Given the description of an element on the screen output the (x, y) to click on. 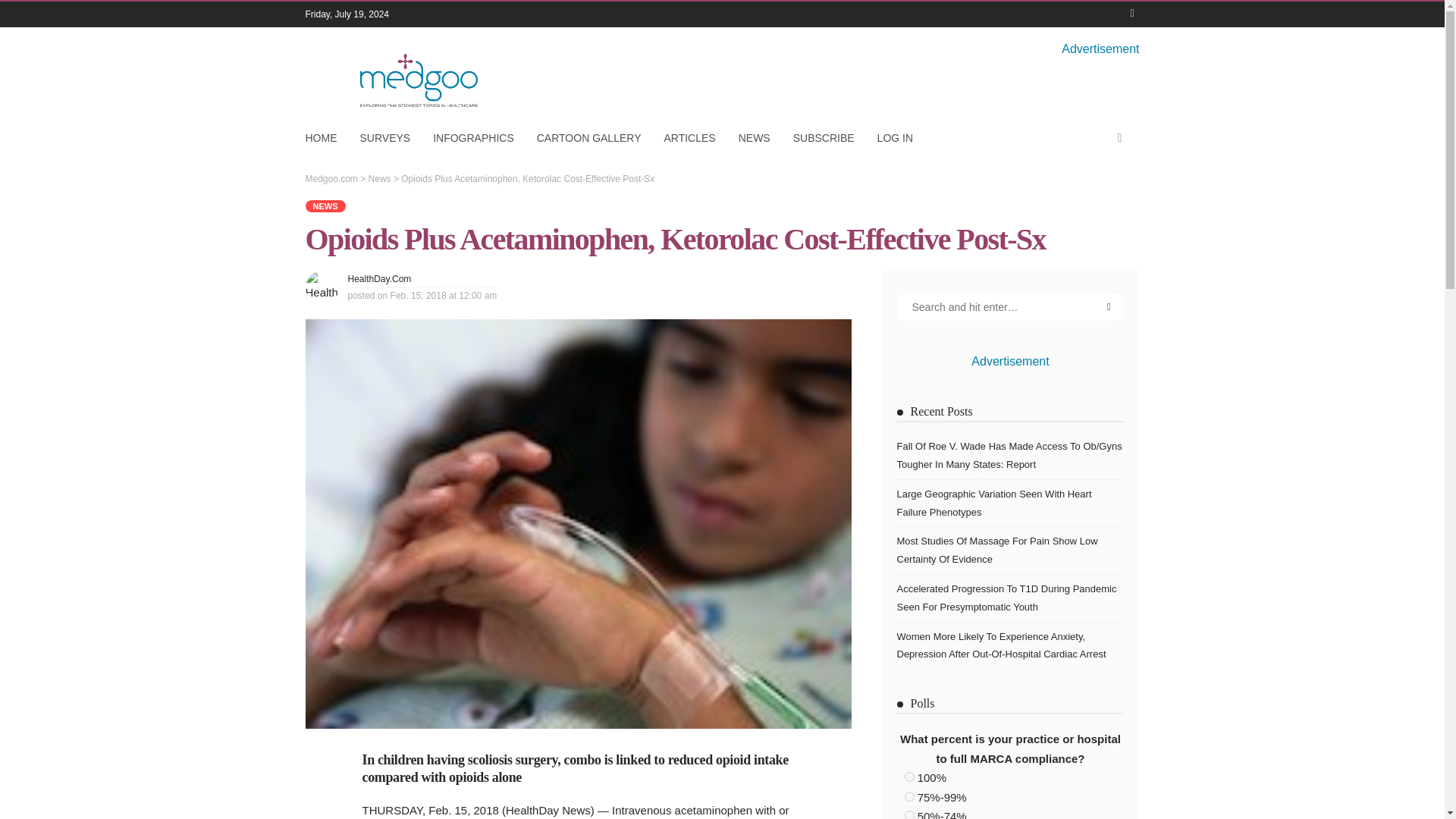
INFOGRAPHICS (473, 137)
ARTICLES (689, 137)
search (1118, 137)
Medgoo.com (330, 178)
Go to the News Category archives. (379, 178)
HOME (325, 137)
Advertisement (1099, 48)
CARTOON GALLERY (588, 137)
LOG IN (895, 137)
NEWS (324, 205)
6 (909, 777)
8 (909, 814)
SUBSCRIBE (823, 137)
News (324, 205)
SURVEYS (385, 137)
